Given the description of an element on the screen output the (x, y) to click on. 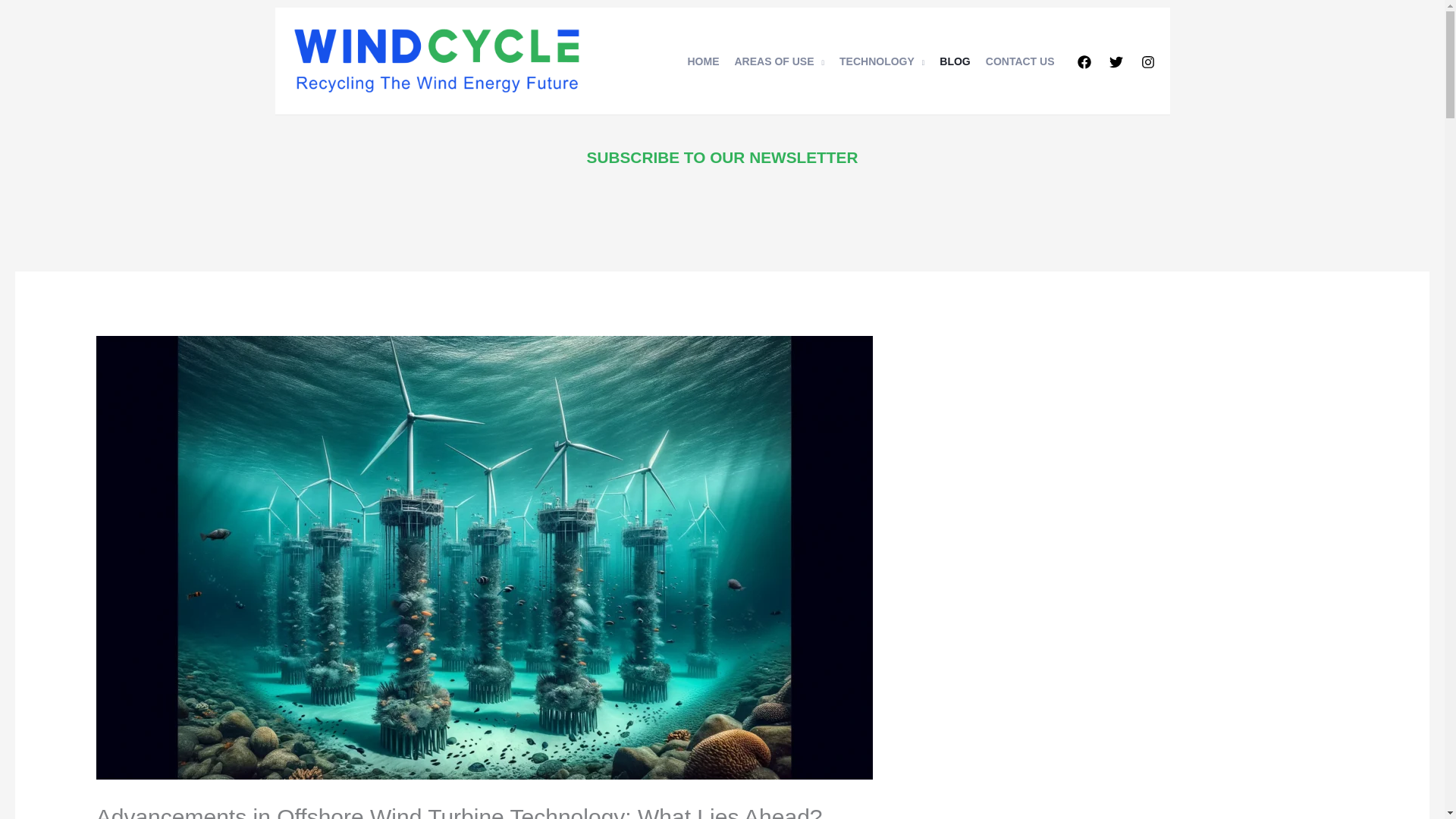
TECHNOLOGY (881, 61)
AREAS OF USE (778, 61)
CONTACT US (1020, 61)
HOME (702, 61)
BLOG (953, 61)
